Given the description of an element on the screen output the (x, y) to click on. 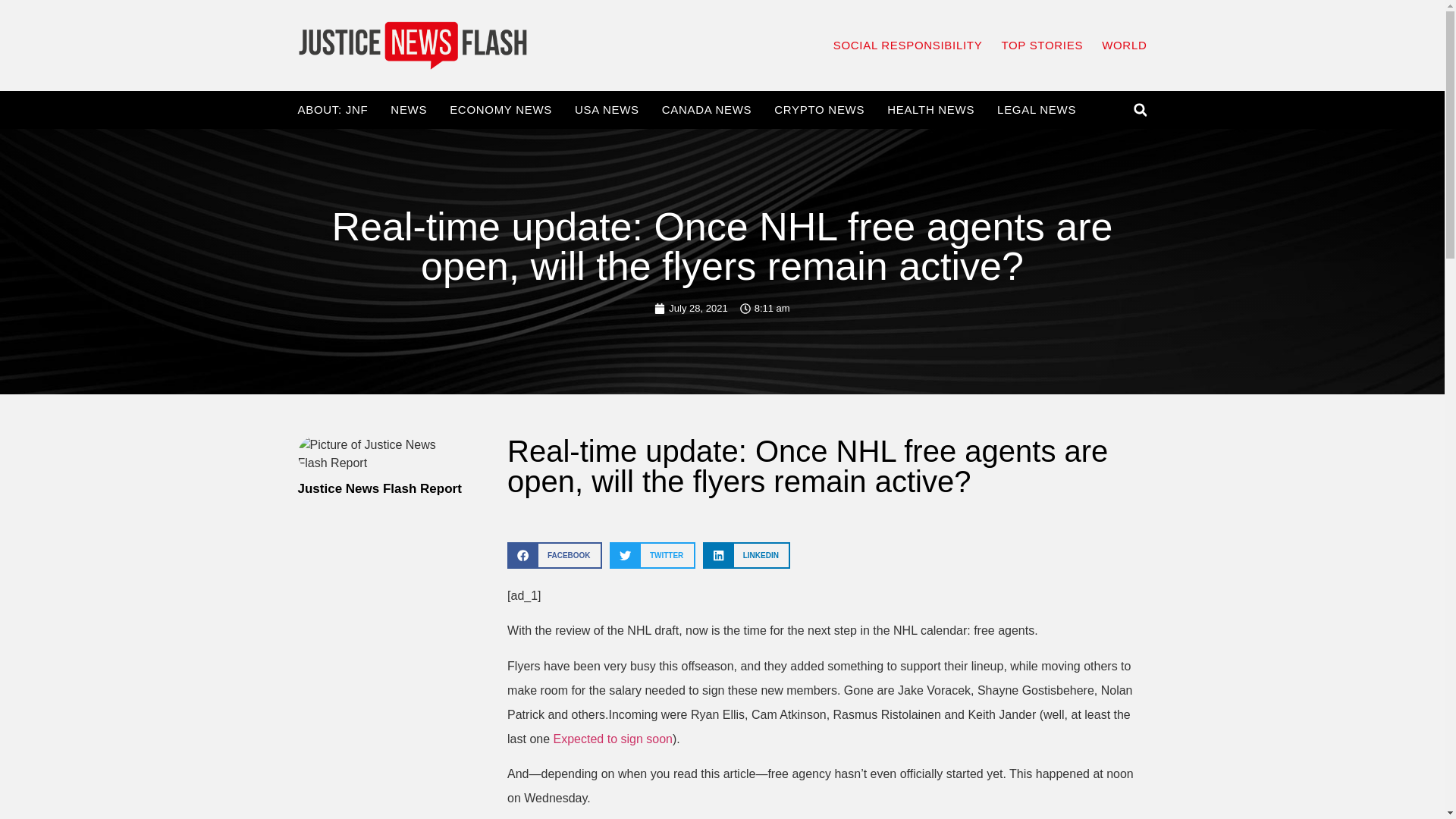
LEGAL NEWS (1036, 109)
TOP STORIES (1042, 45)
WORLD (1124, 45)
NEWS (407, 109)
USA NEWS (606, 109)
SOCIAL RESPONSIBILITY (907, 45)
CRYPTO NEWS (819, 109)
HEALTH NEWS (930, 109)
ECONOMY NEWS (500, 109)
ABOUT: JNF (332, 109)
